Given the description of an element on the screen output the (x, y) to click on. 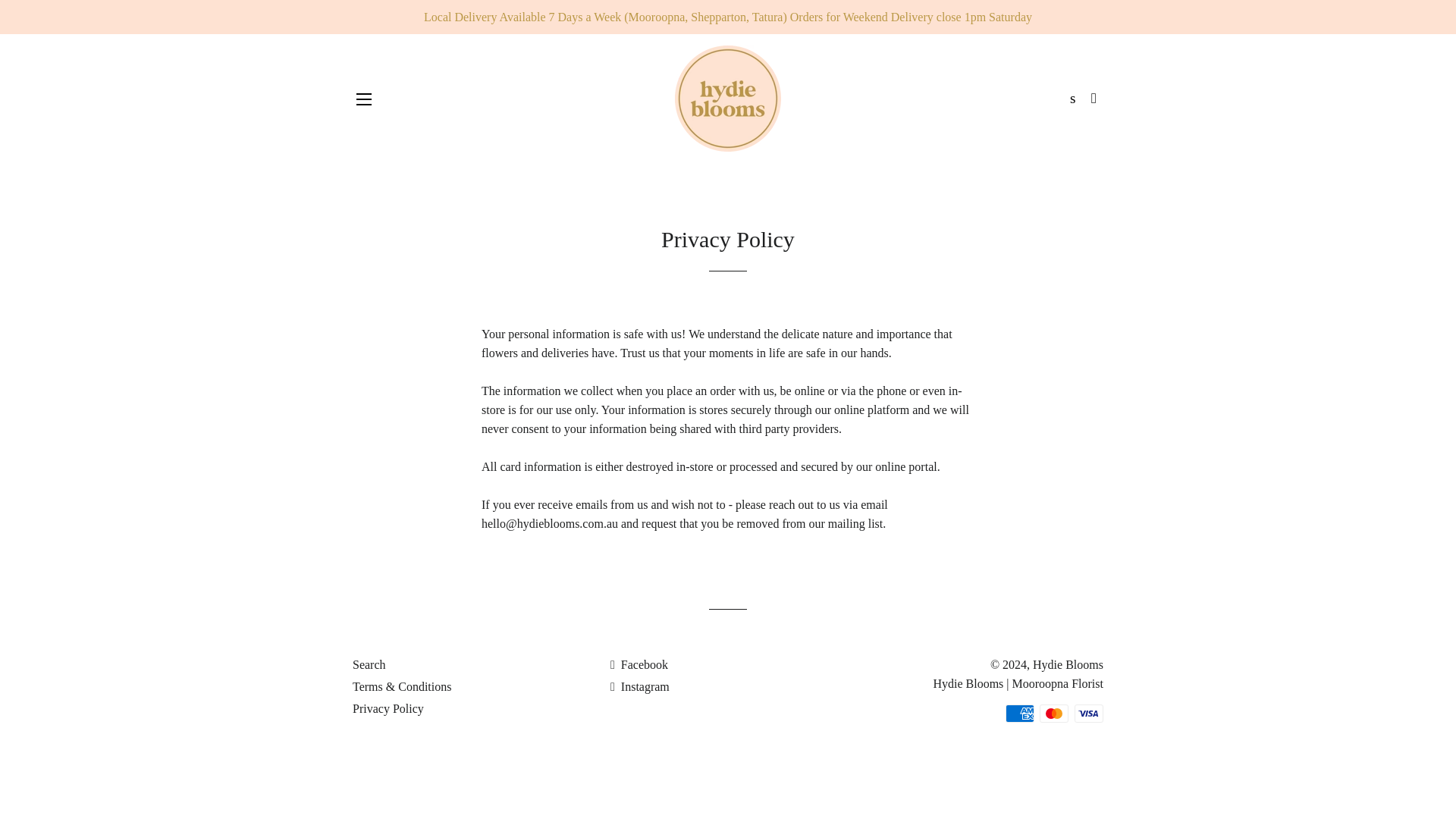
SITE NAVIGATION (363, 98)
Hydie Blooms on Instagram (639, 686)
Hydie Blooms on Facebook (639, 664)
Visa (1088, 713)
American Express (1019, 713)
Mastercard (1053, 713)
